Given the description of an element on the screen output the (x, y) to click on. 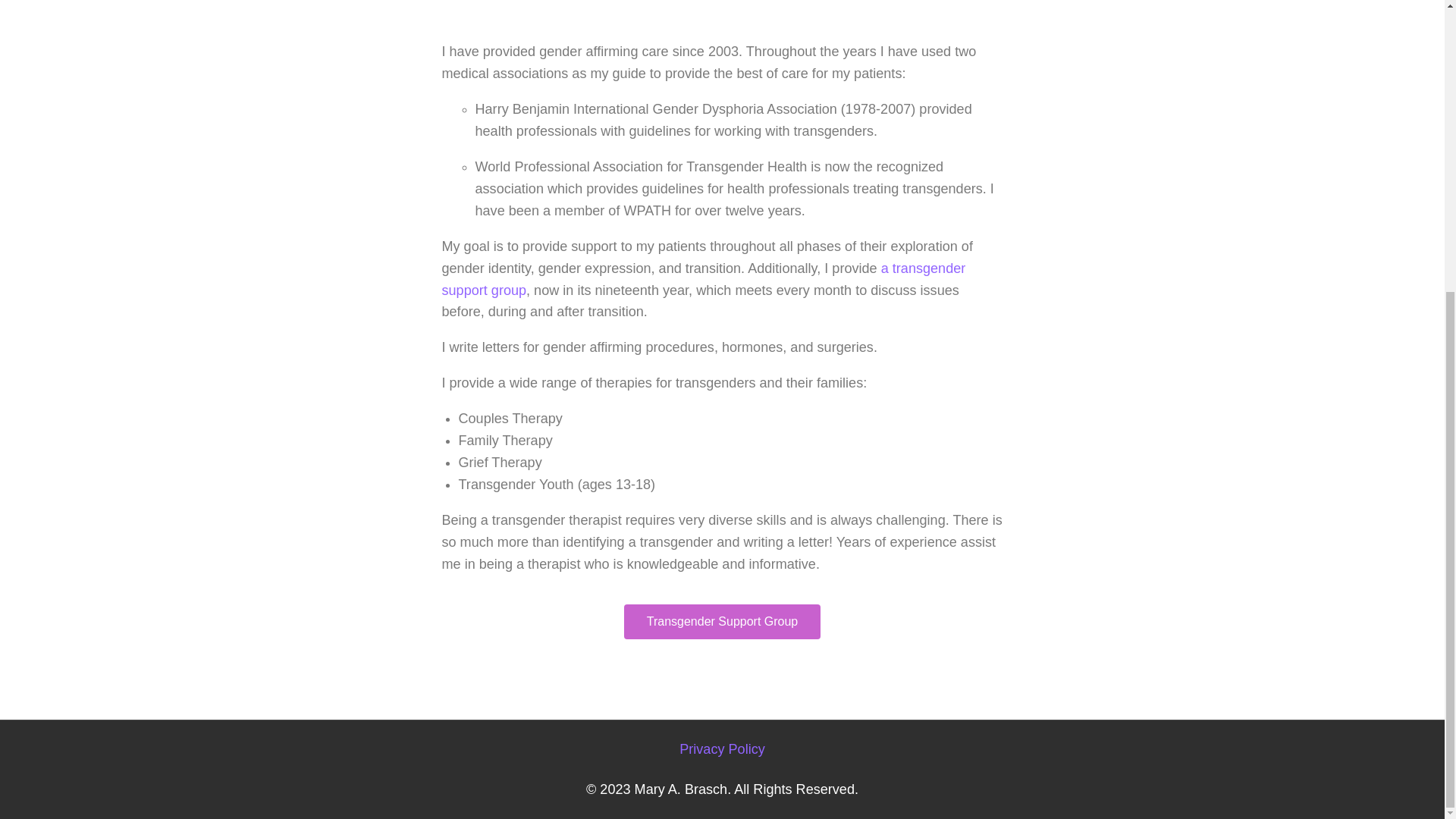
Privacy Policy (722, 749)
Transgender Support Group (722, 621)
a transgender support group (703, 279)
